Given the description of an element on the screen output the (x, y) to click on. 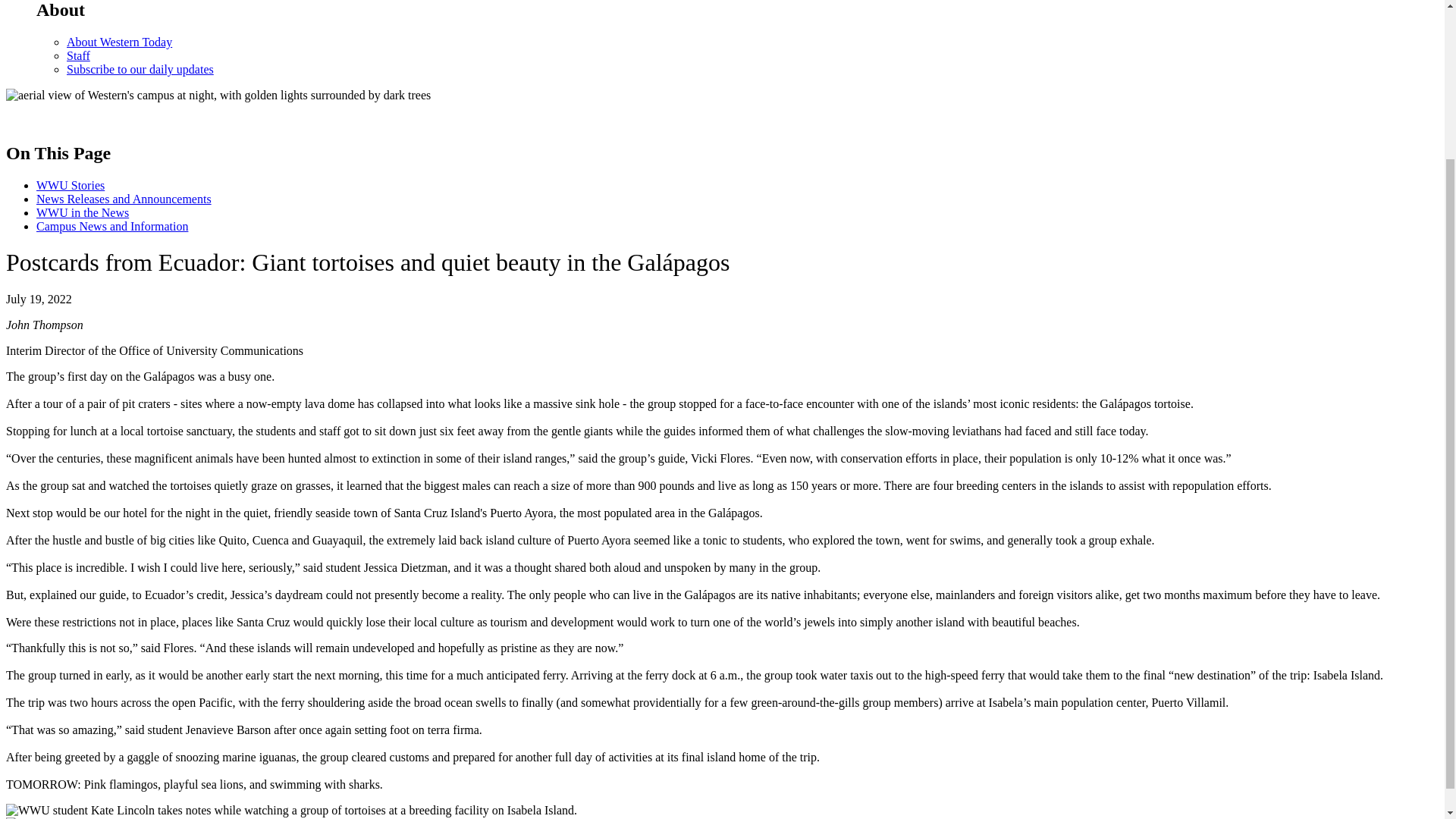
Staff (78, 55)
Subscribe to our daily updates (140, 69)
About Western Today (118, 42)
News Releases and Announcements (123, 198)
Campus News and Information (111, 226)
WWU Stories (70, 185)
WWU in the News (82, 212)
